Given the description of an element on the screen output the (x, y) to click on. 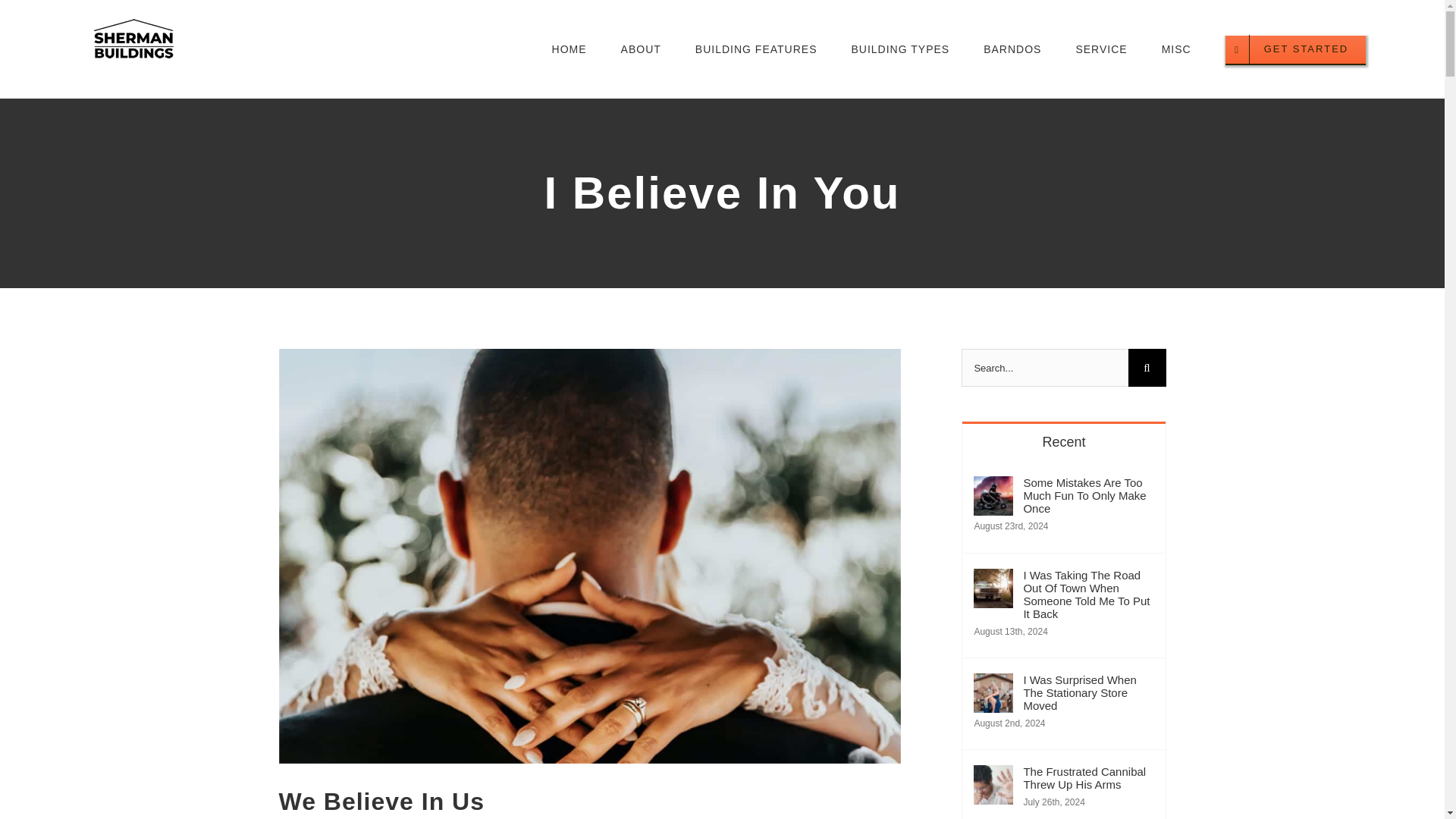
BUILDING TYPES (899, 49)
GET STARTED (1296, 49)
BUILDING FEATURES (755, 49)
